Given the description of an element on the screen output the (x, y) to click on. 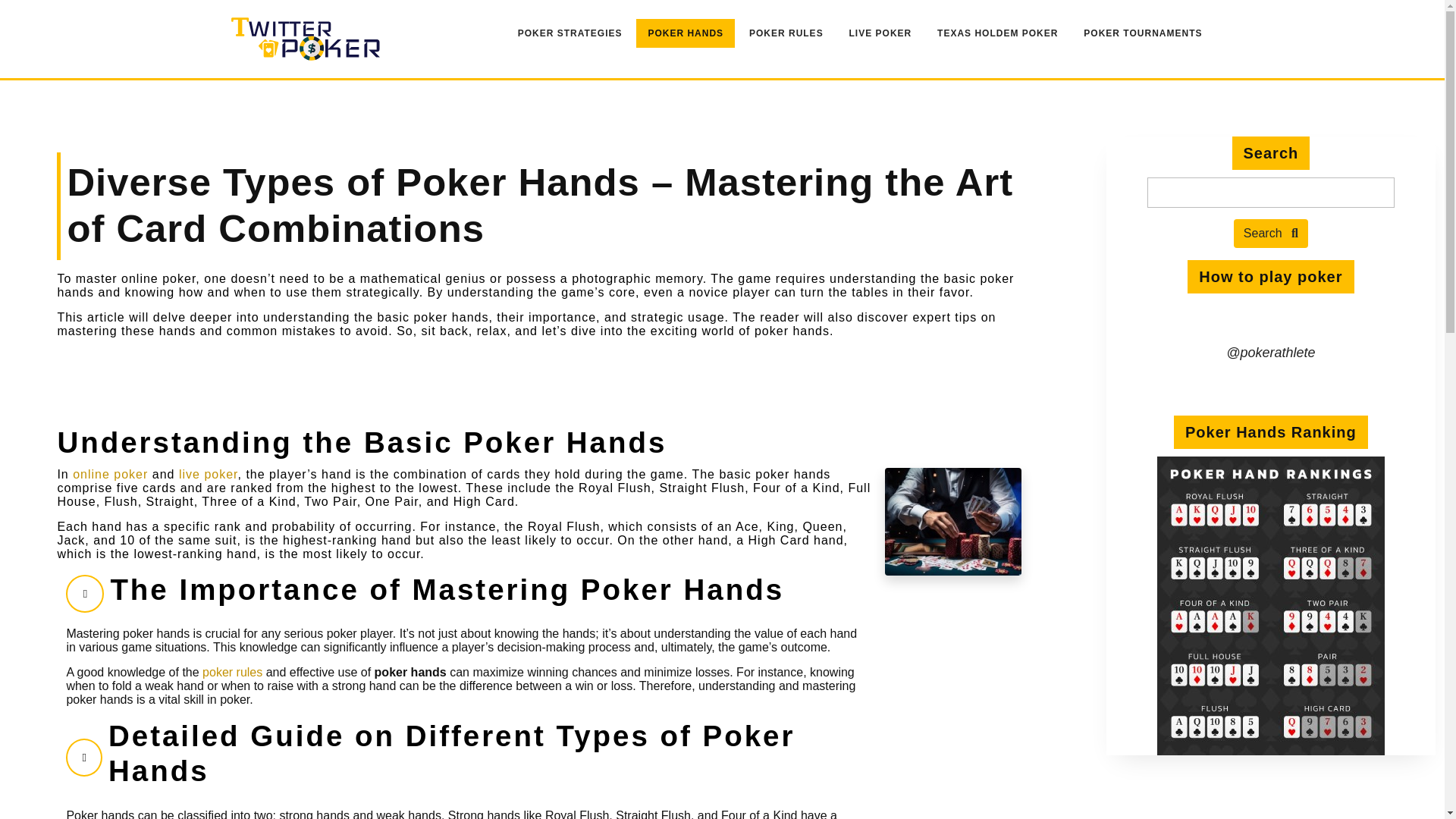
POKER RULES (786, 32)
LIVE POKER (880, 32)
POKER STRATEGIES (569, 32)
online poker (110, 473)
poker rules (232, 671)
TEXAS HOLDEM POKER (997, 32)
POKER TOURNAMENTS (1141, 32)
Search (1270, 233)
live poker (208, 473)
POKER HANDS (685, 32)
